Given the description of an element on the screen output the (x, y) to click on. 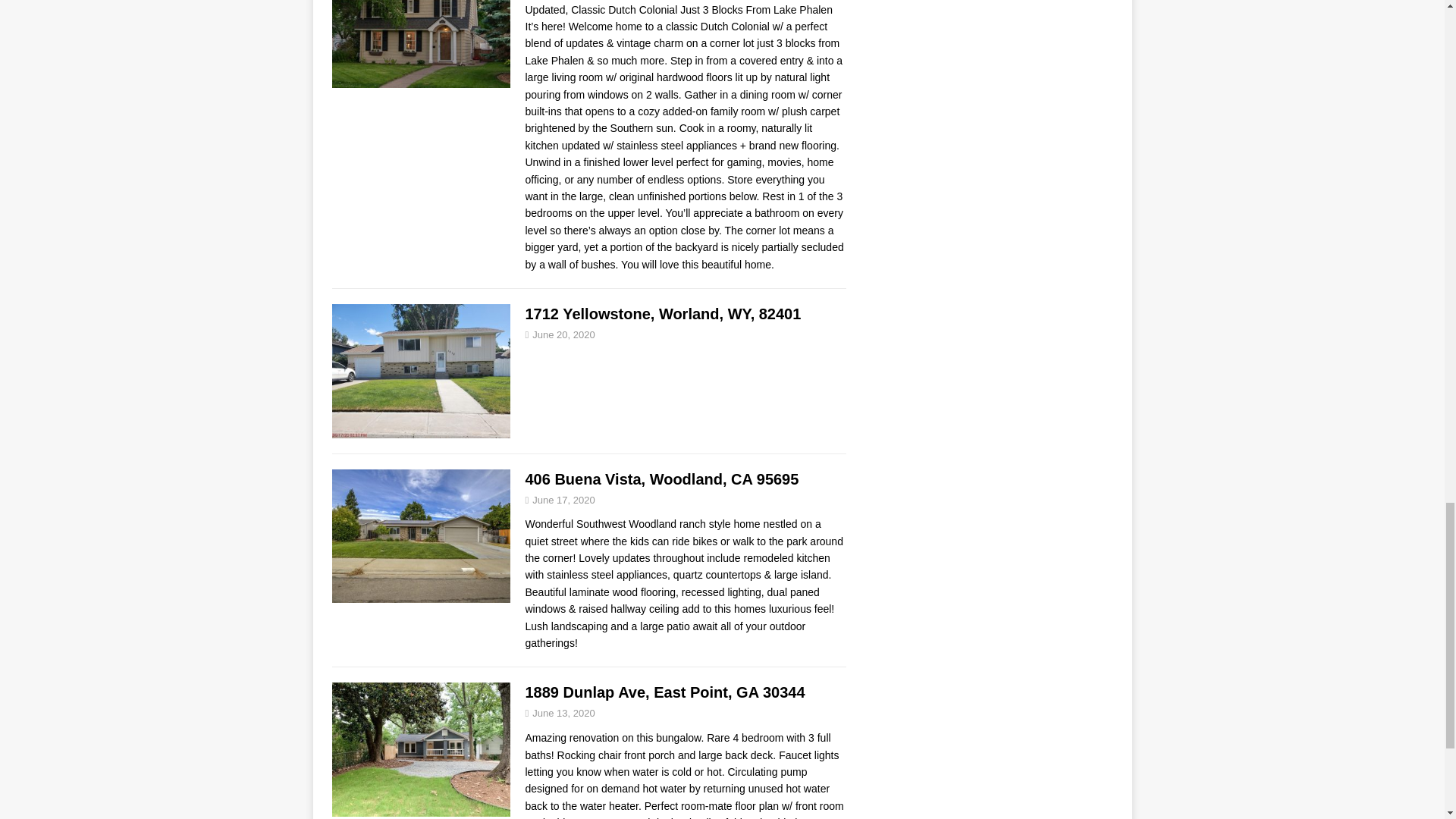
1889 Dunlap Ave, East Point, GA 30344 (664, 692)
1712 Yellowstone, Worland, WY, 82401 (662, 313)
406 Buena Vista, Woodland, CA 95695 (660, 478)
